Given the description of an element on the screen output the (x, y) to click on. 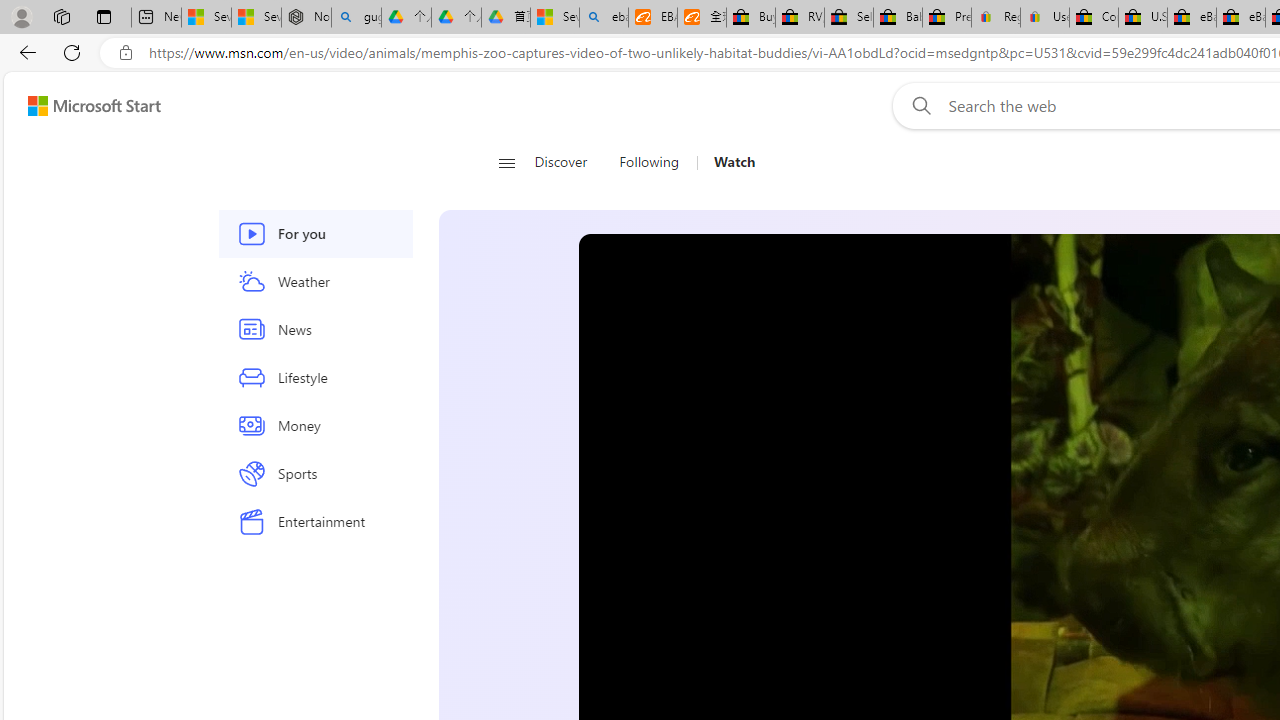
Consumer Health Data Privacy Policy - eBay Inc. (1093, 17)
User Privacy Notice | eBay (1044, 17)
Press Room - eBay Inc. (946, 17)
